Given the description of an element on the screen output the (x, y) to click on. 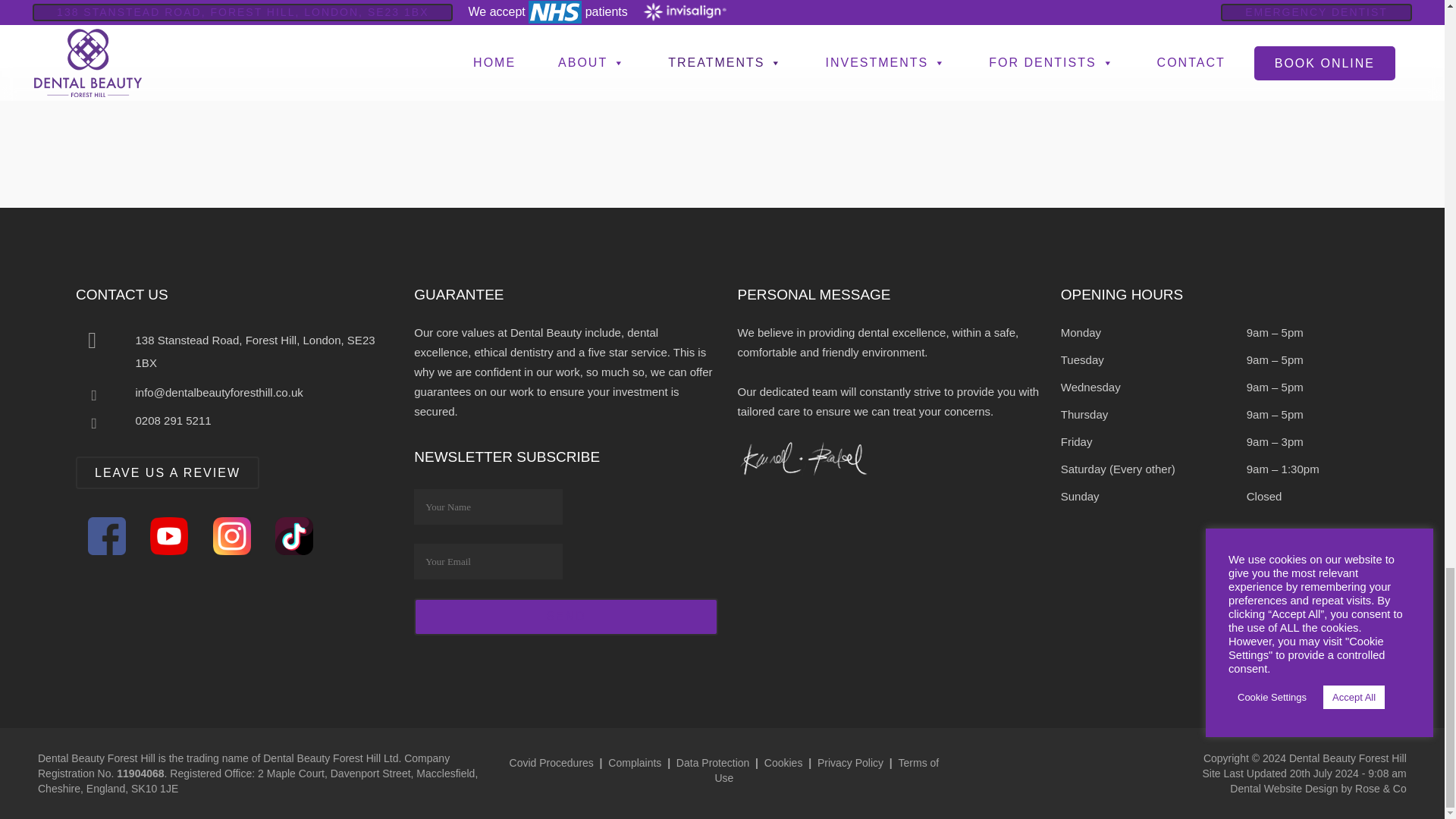
Send (565, 616)
